Given the description of an element on the screen output the (x, y) to click on. 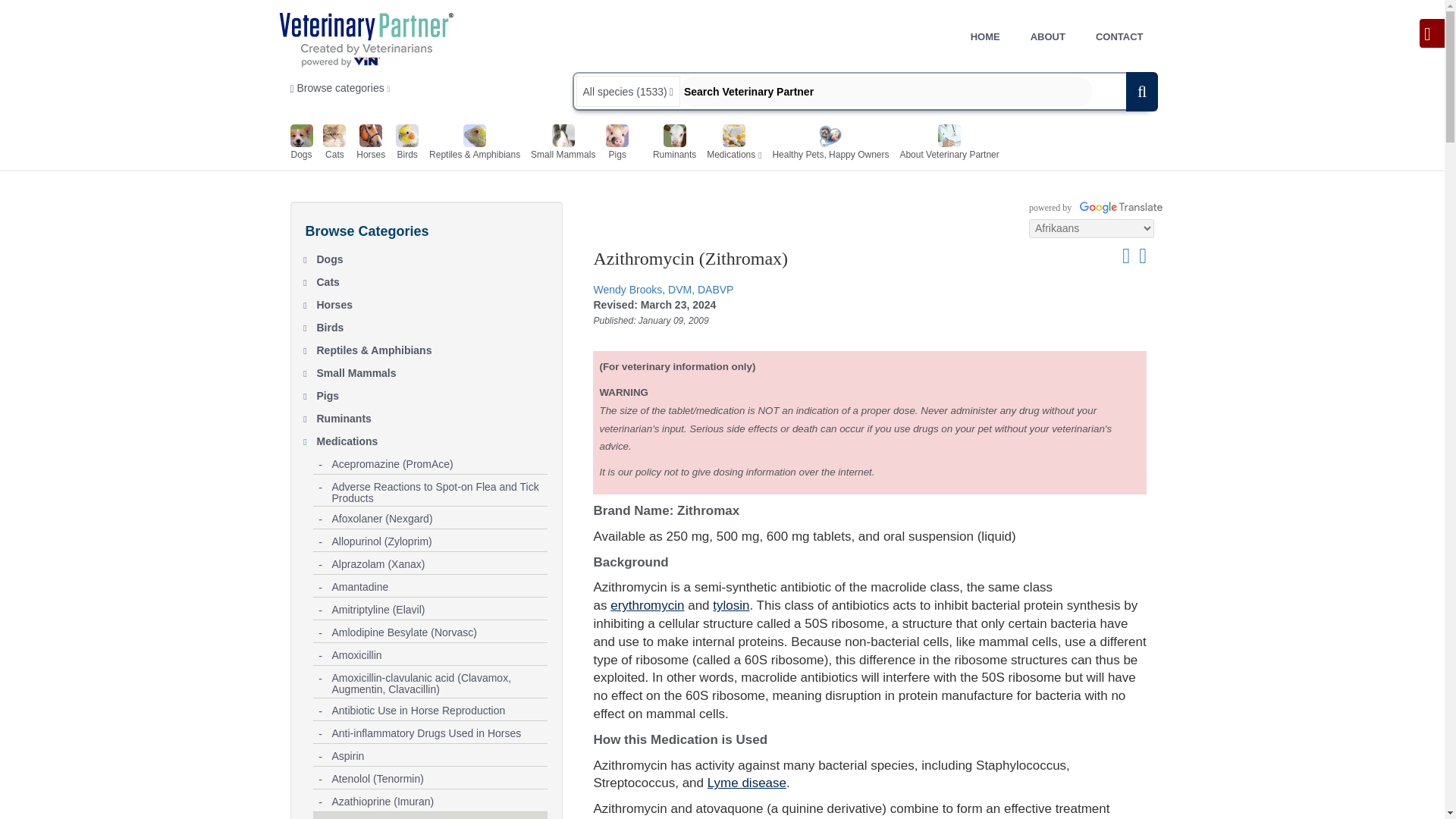
Small Mammals (432, 370)
Ruminants (673, 144)
Small Mammals (563, 144)
Healthy Pets, Happy Owners (829, 144)
ABOUT (1047, 36)
Horses (432, 301)
Dogs (432, 256)
Cats (432, 279)
Ruminants (432, 415)
Horses (370, 144)
About Veterinary Partner (948, 144)
Birds (432, 324)
Medications (730, 144)
Pigs (432, 393)
